Given the description of an element on the screen output the (x, y) to click on. 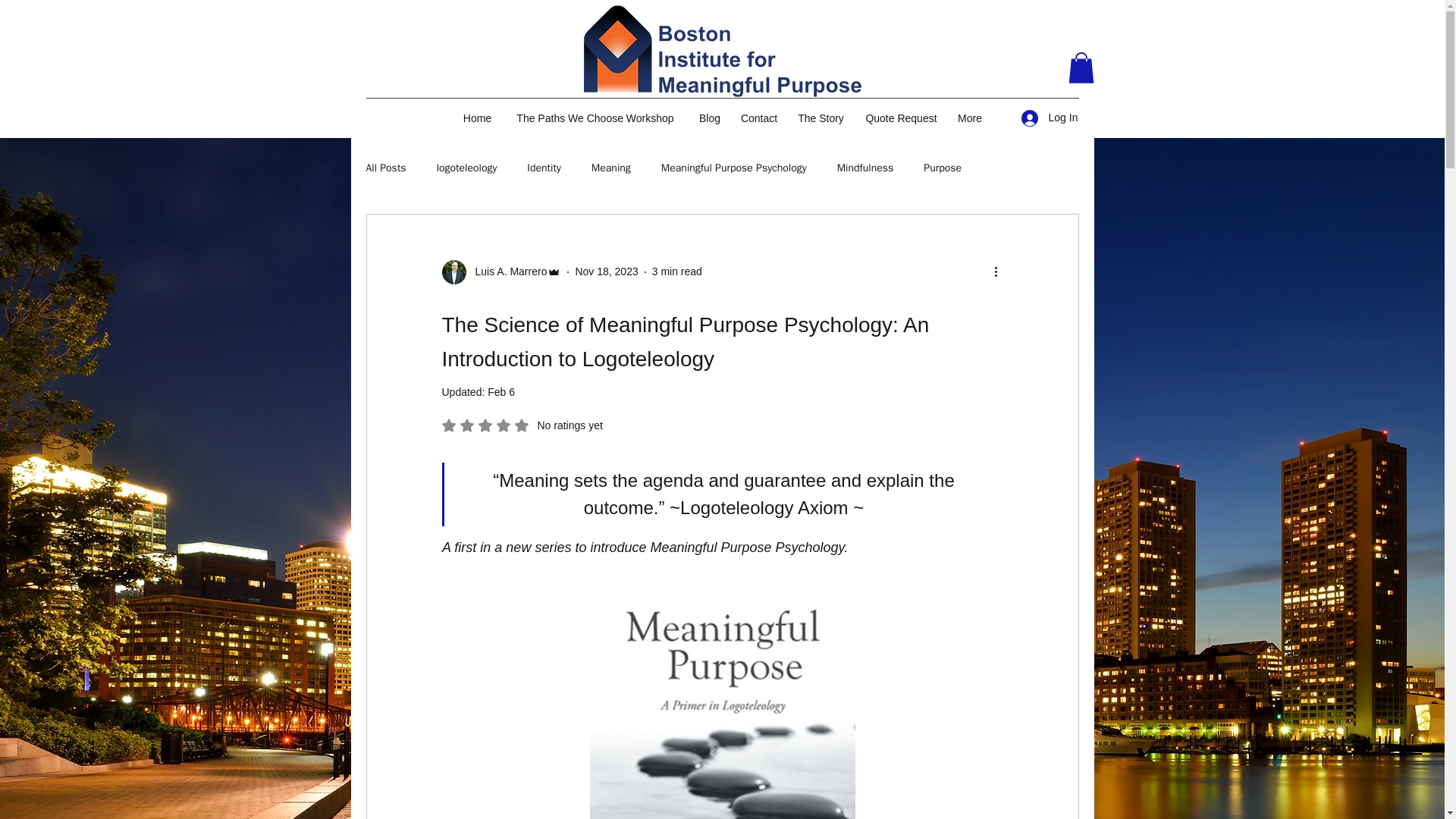
Dan's BIMP Edit.png (722, 50)
Log In (1044, 117)
Feb 6 (501, 391)
Meaningful Purpose Psychology (733, 168)
Purpose (941, 168)
Contact (758, 118)
All Posts (385, 168)
logoteleology (466, 168)
Nov 18, 2023 (606, 271)
Luis A. Marrero (506, 271)
The Paths We Choose Workshop (594, 118)
Mindfulness (865, 168)
3 min read (676, 271)
Blog (709, 118)
Home (476, 118)
